Given the description of an element on the screen output the (x, y) to click on. 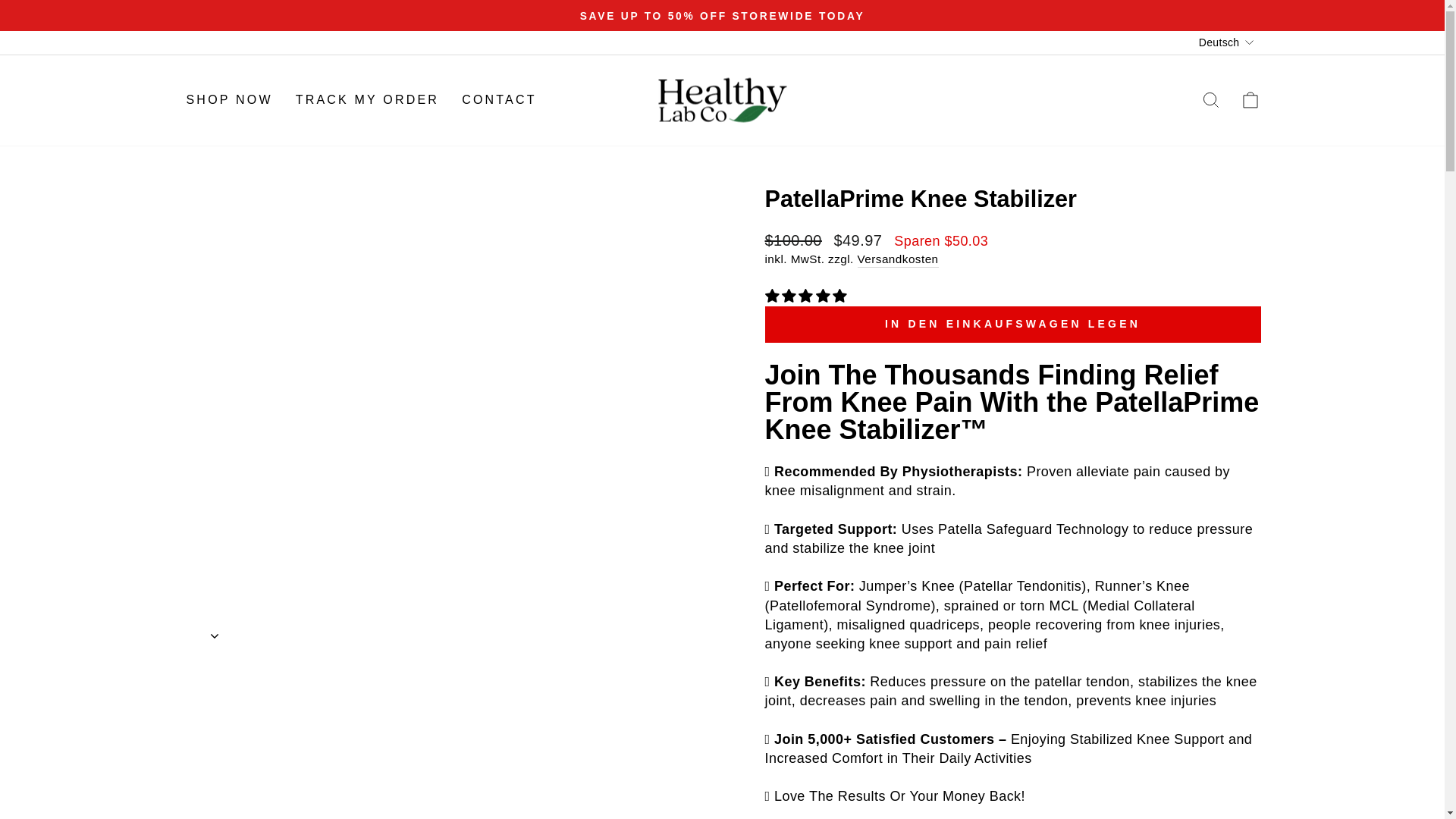
Deutsch (1226, 42)
SHOP NOW (228, 100)
IN DEN EINKAUFSWAGEN LEGEN (1012, 324)
EINKAUFSWAGEN (1249, 100)
Versandkosten (897, 258)
CONTACT (498, 100)
TRACK MY ORDER (366, 100)
SUCHE (1210, 100)
